Given the description of an element on the screen output the (x, y) to click on. 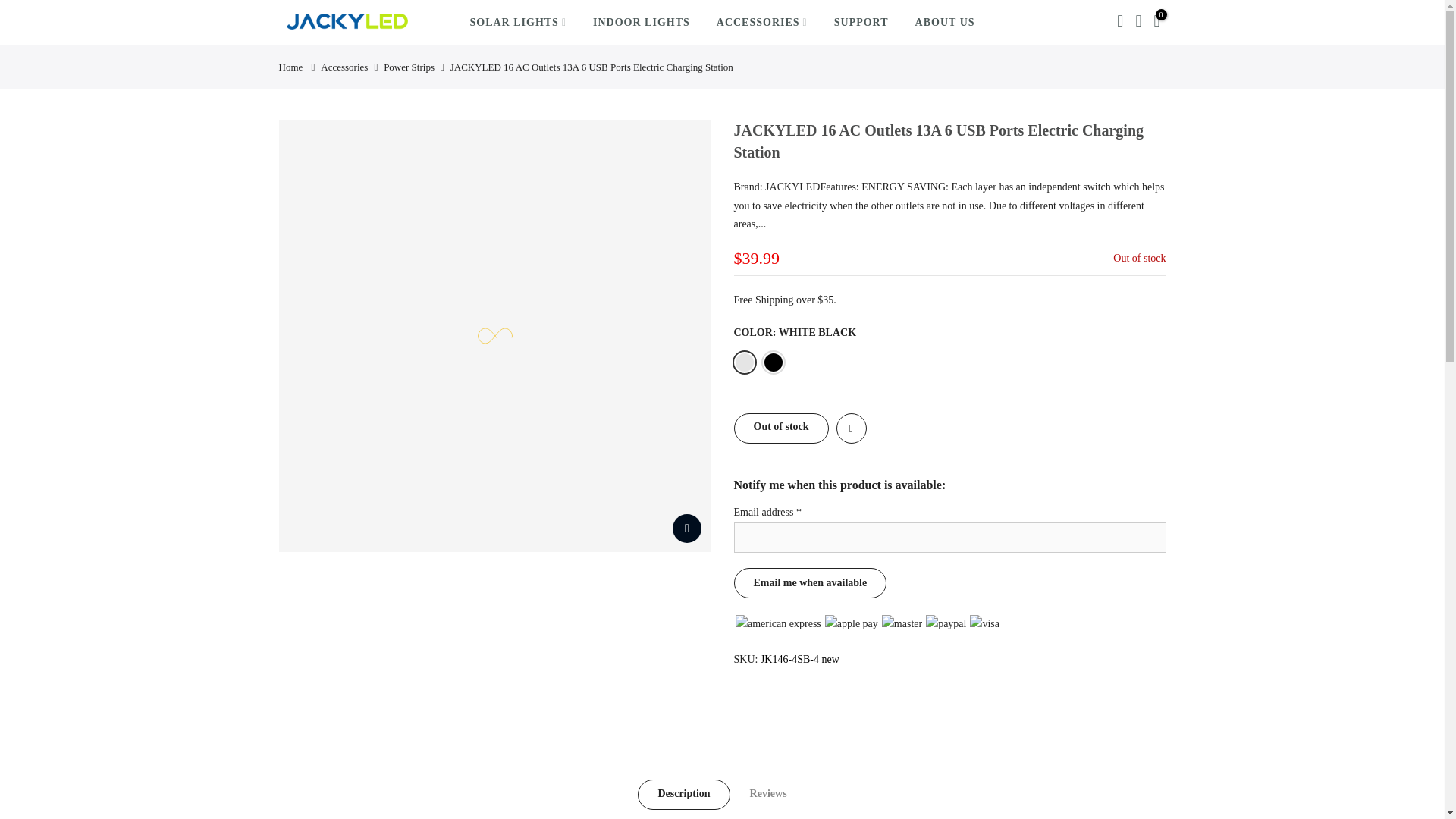
Home (290, 67)
Reviews (768, 794)
Email me when available (809, 583)
Email me when available (809, 583)
Power Strips (408, 66)
ACCESSORIES (762, 22)
Accessories (344, 66)
SOLAR LIGHTS (518, 22)
INDOOR LIGHTS (641, 22)
Description (683, 794)
